Given the description of an element on the screen output the (x, y) to click on. 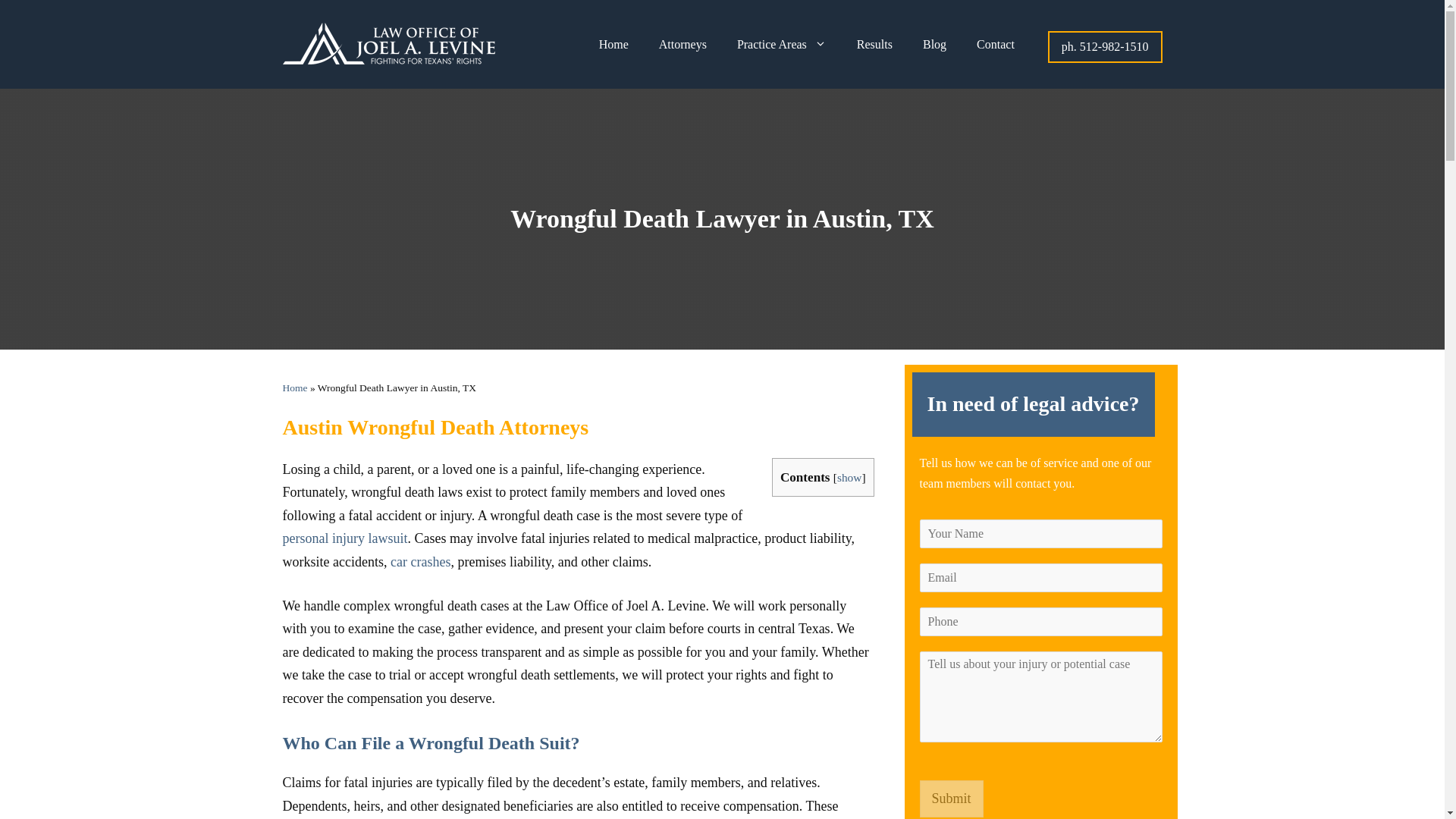
ph. 512-982-1510 (1104, 46)
Home (294, 387)
Contact (994, 44)
show (849, 477)
Results (874, 44)
Practice Areas (781, 44)
Personal Injury Lawyer Austin TX (344, 538)
Home (613, 44)
Attorneys (682, 44)
Blog (933, 44)
